Given the description of an element on the screen output the (x, y) to click on. 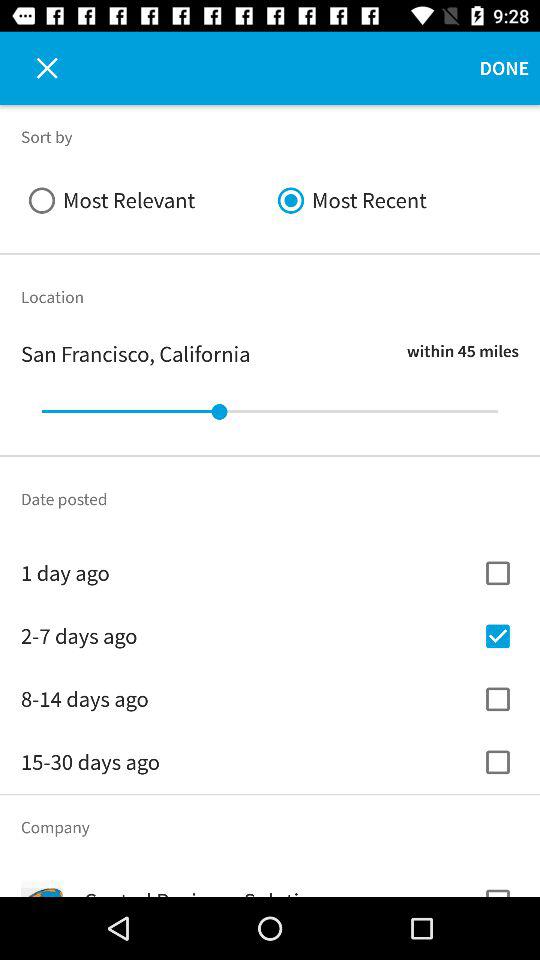
tap item next to filter (36, 68)
